Given the description of an element on the screen output the (x, y) to click on. 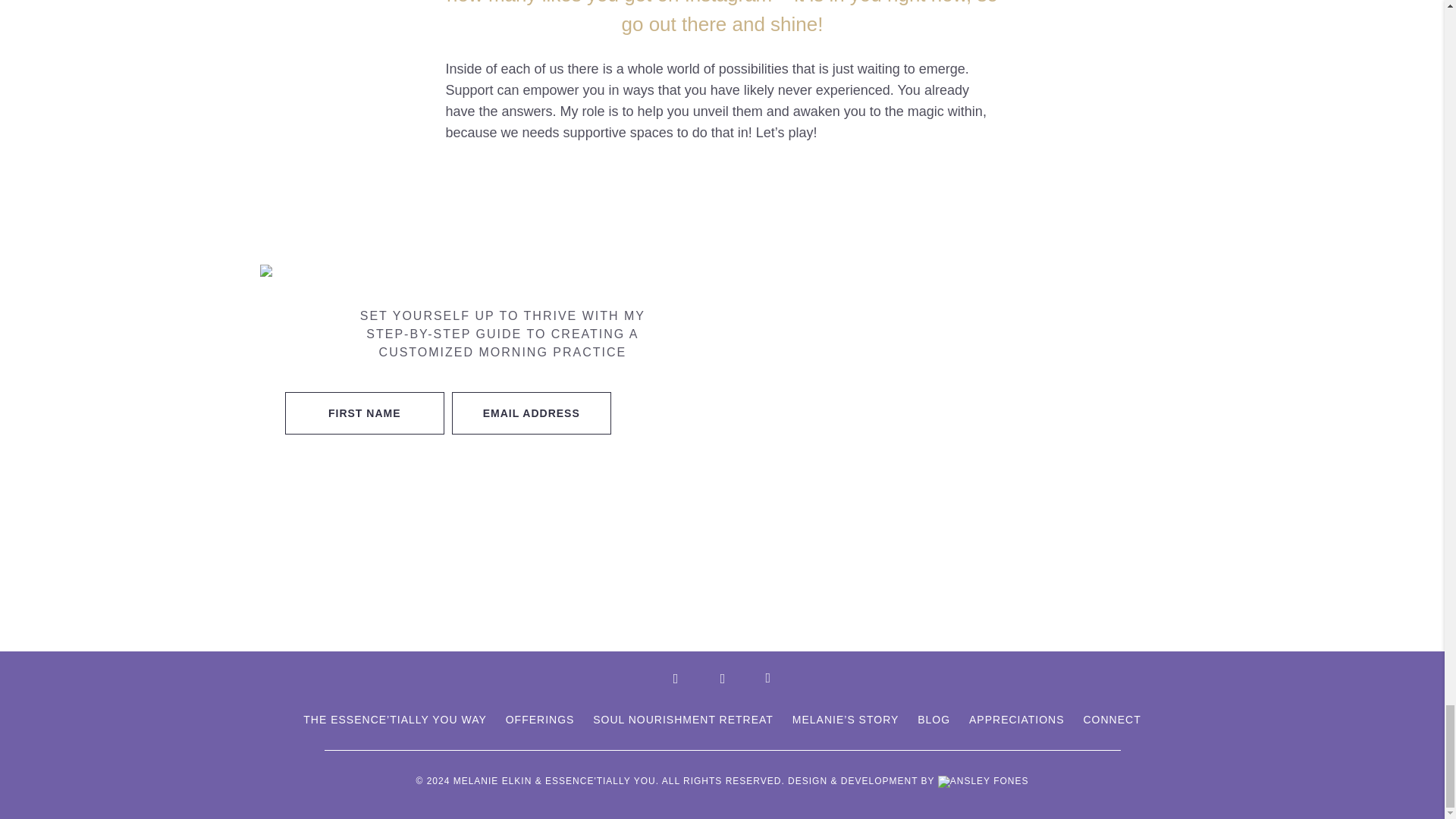
APPRECIATIONS (1016, 719)
OFFERINGS (540, 719)
Like me on Facebook! (676, 677)
CONNECT (1111, 719)
SOUL NOURISHMENT RETREAT (682, 719)
BLOG (933, 719)
Follow me on Instagram! (722, 677)
E-mail Me! (767, 677)
I Want It (669, 413)
I Want It (669, 413)
